Given the description of an element on the screen output the (x, y) to click on. 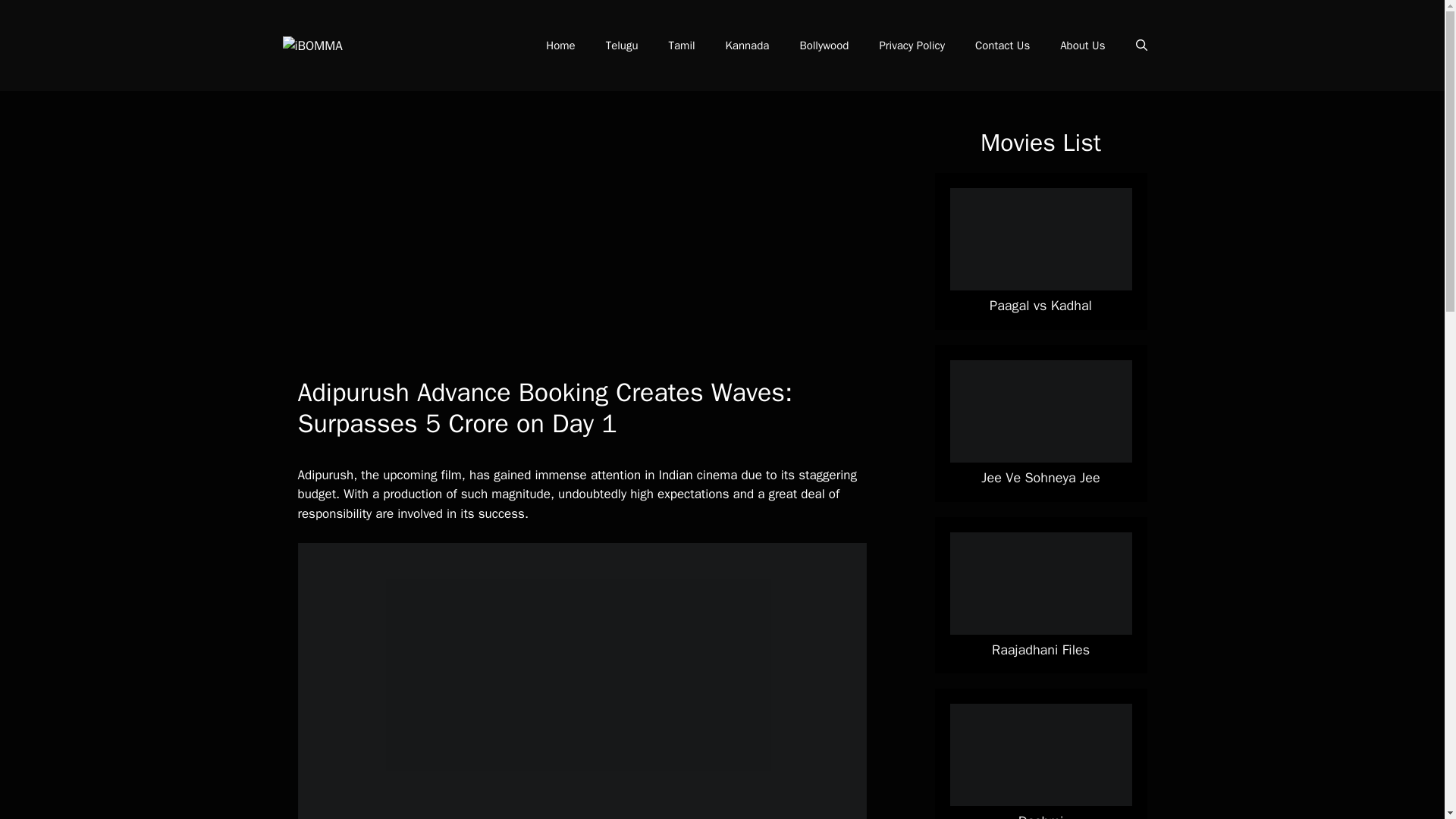
Jee Ve Sohneya Jee (1040, 477)
Bollywood (823, 45)
Tamil (681, 45)
About Us (1082, 45)
Privacy Policy (911, 45)
Home (560, 45)
Telugu (622, 45)
Kannada (747, 45)
Paagal vs Kadhal (1041, 305)
Contact Us (1002, 45)
